Given the description of an element on the screen output the (x, y) to click on. 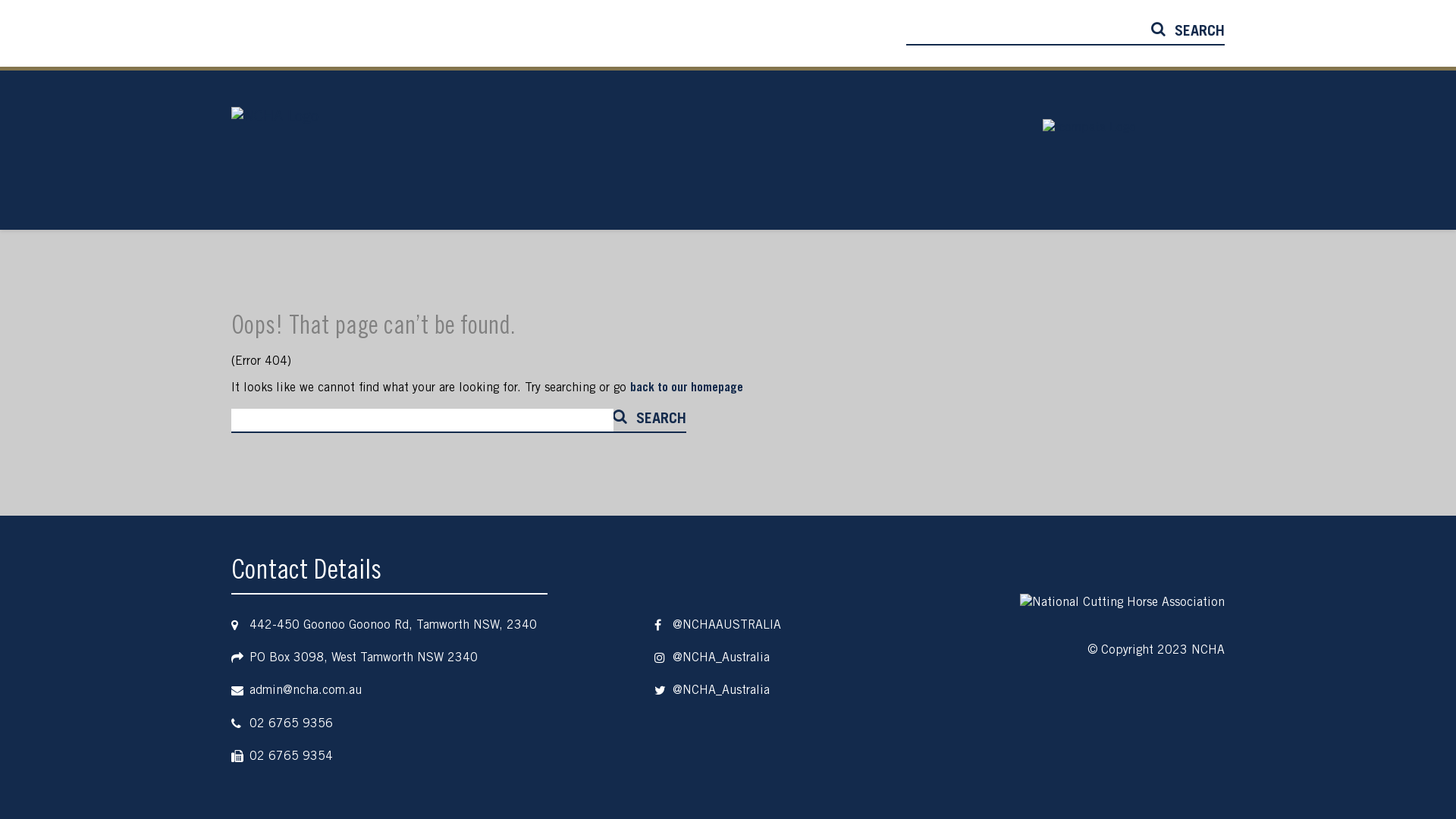
back to our homepage Element type: text (686, 388)
admin@ncha.com.au Element type: text (305, 690)
@NCHAAUSTRALIA Element type: text (726, 625)
@NCHA_Australia Element type: text (720, 658)
@NCHA_Australia Element type: text (720, 690)
National Cutting Horse Association Element type: hover (274, 149)
02 6765 9354 Element type: text (290, 756)
Search Element type: text (1199, 32)
Search Element type: text (661, 419)
02 6765 9356 Element type: text (290, 724)
